Given the description of an element on the screen output the (x, y) to click on. 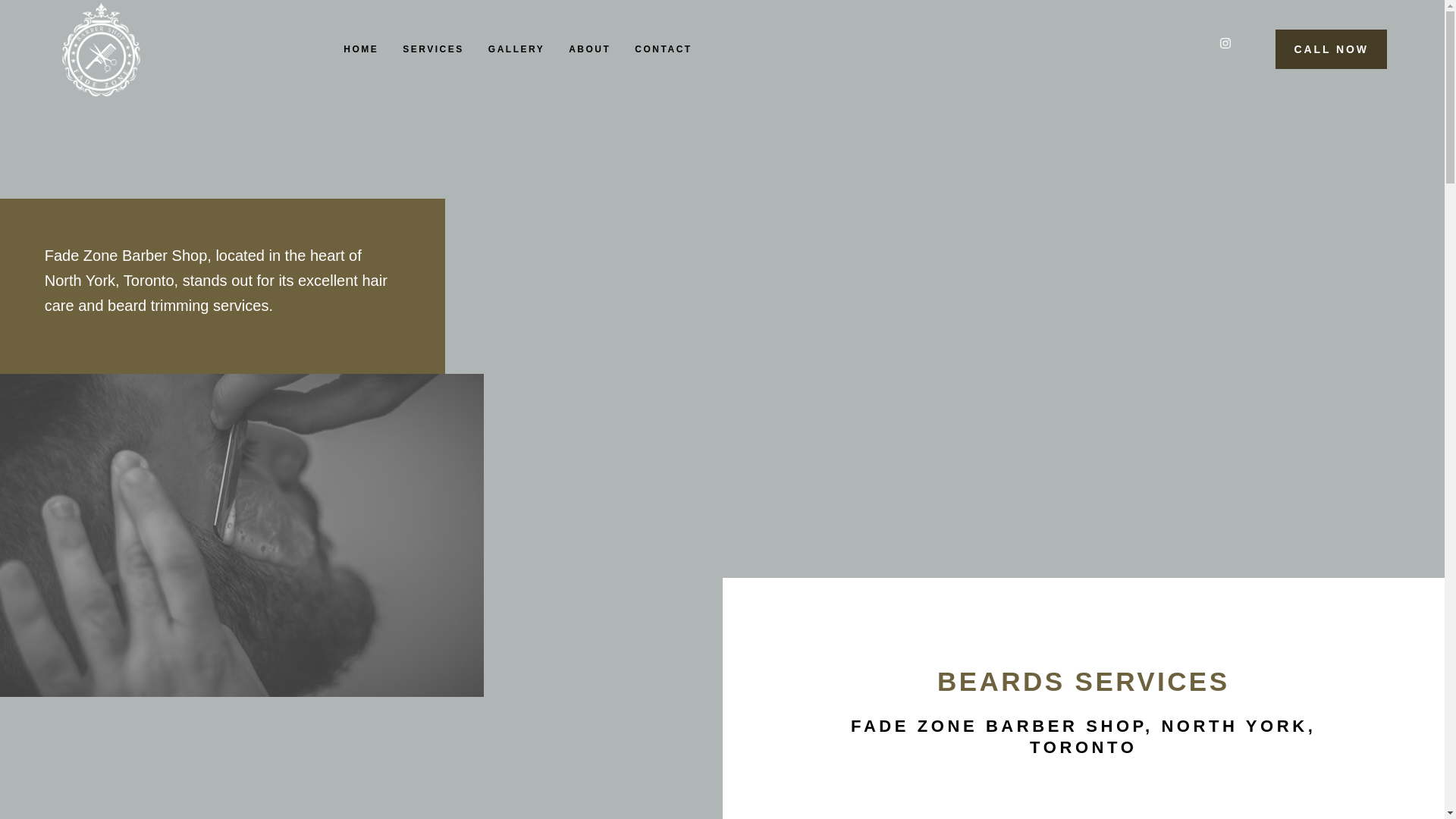
ABOUT (589, 49)
CONTACT (662, 49)
CALL NOW (1330, 48)
HOME (360, 49)
GALLERY (515, 49)
SERVICES (433, 49)
